Given the description of an element on the screen output the (x, y) to click on. 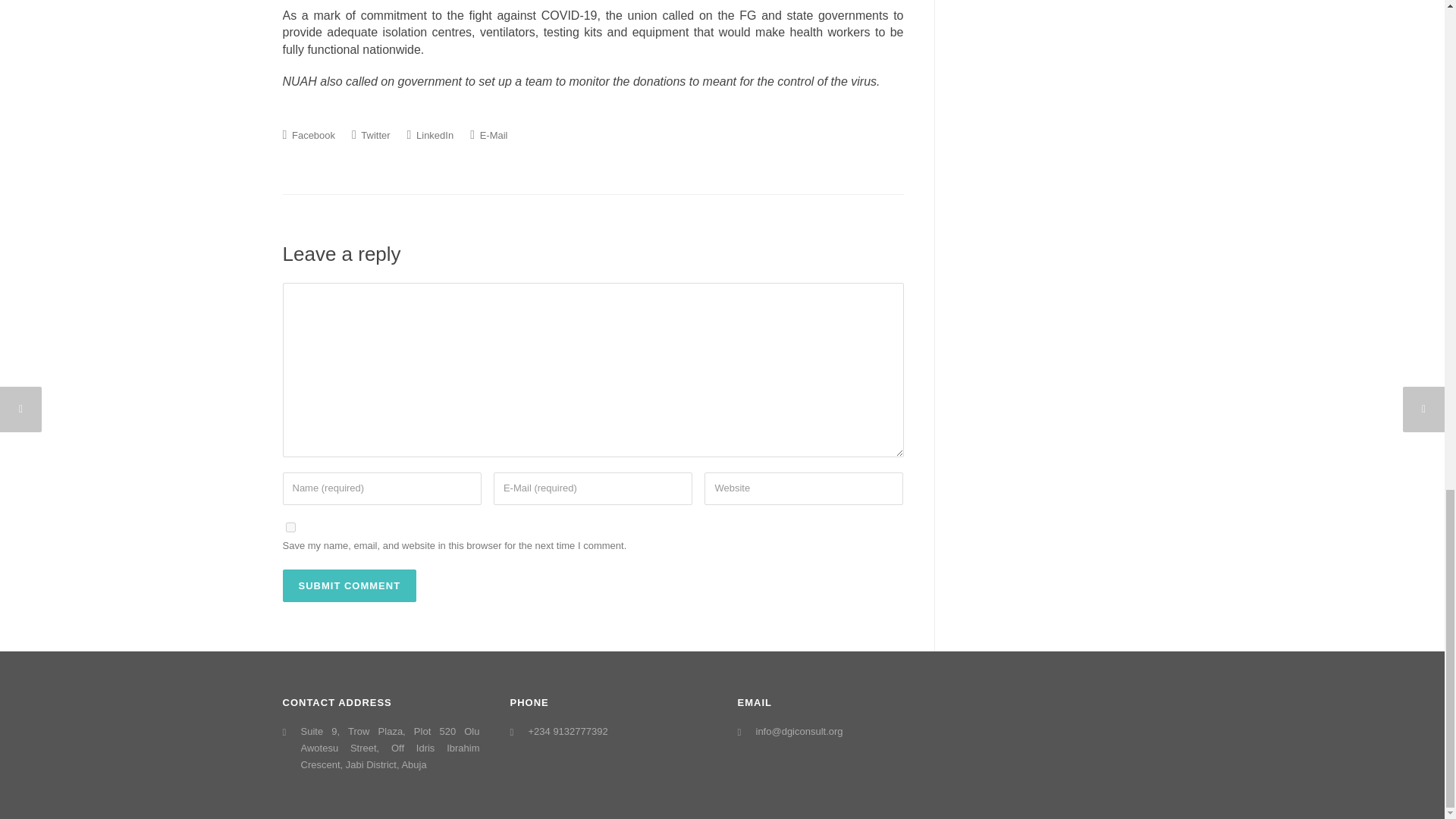
Website (803, 488)
Submit Comment (349, 585)
Share via LinkedIn (430, 134)
Share via Facebook (308, 134)
Share via E-Mail (488, 134)
Share via Twitter (371, 134)
yes (290, 527)
